Given the description of an element on the screen output the (x, y) to click on. 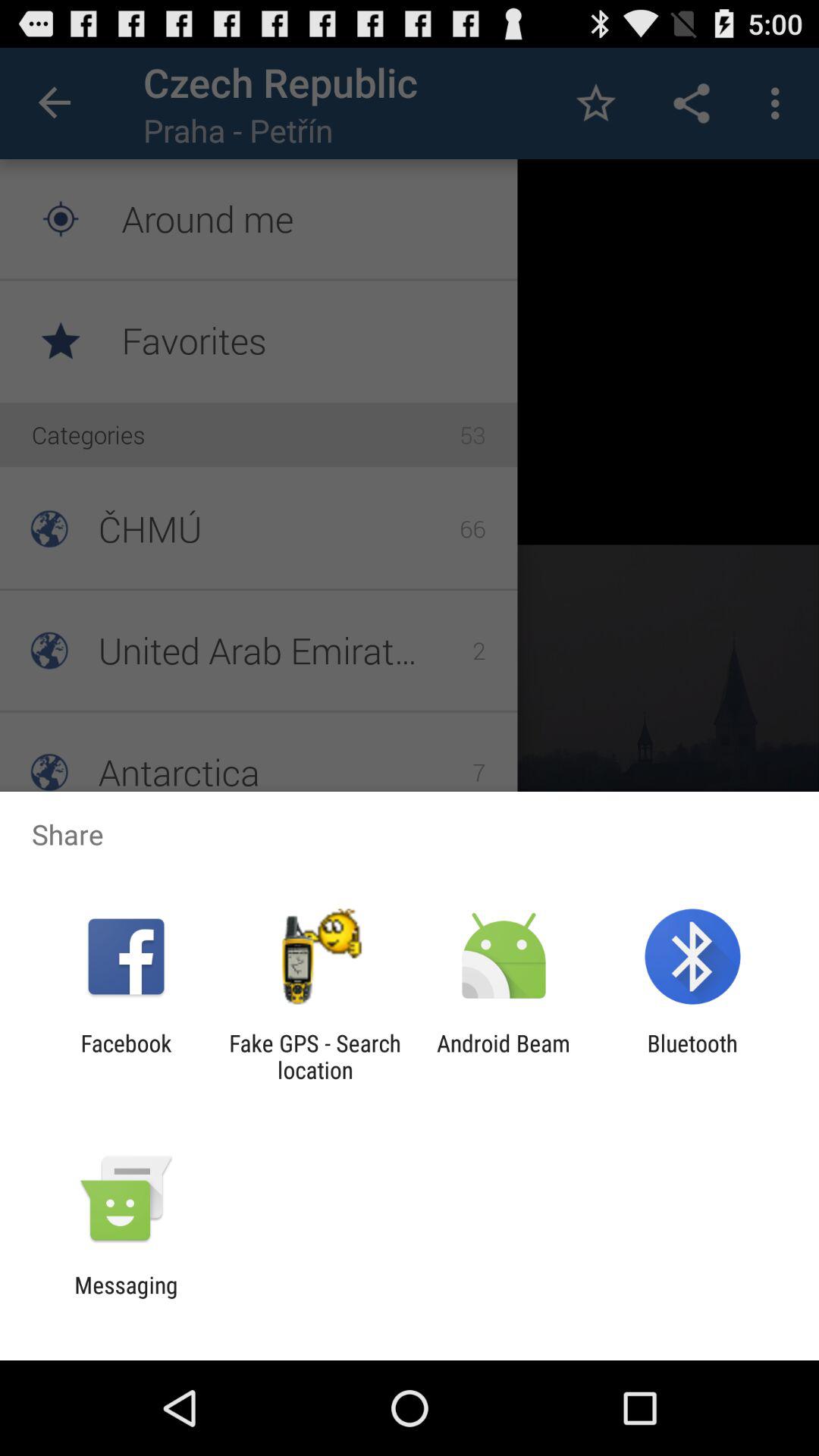
choose the android beam app (503, 1056)
